Given the description of an element on the screen output the (x, y) to click on. 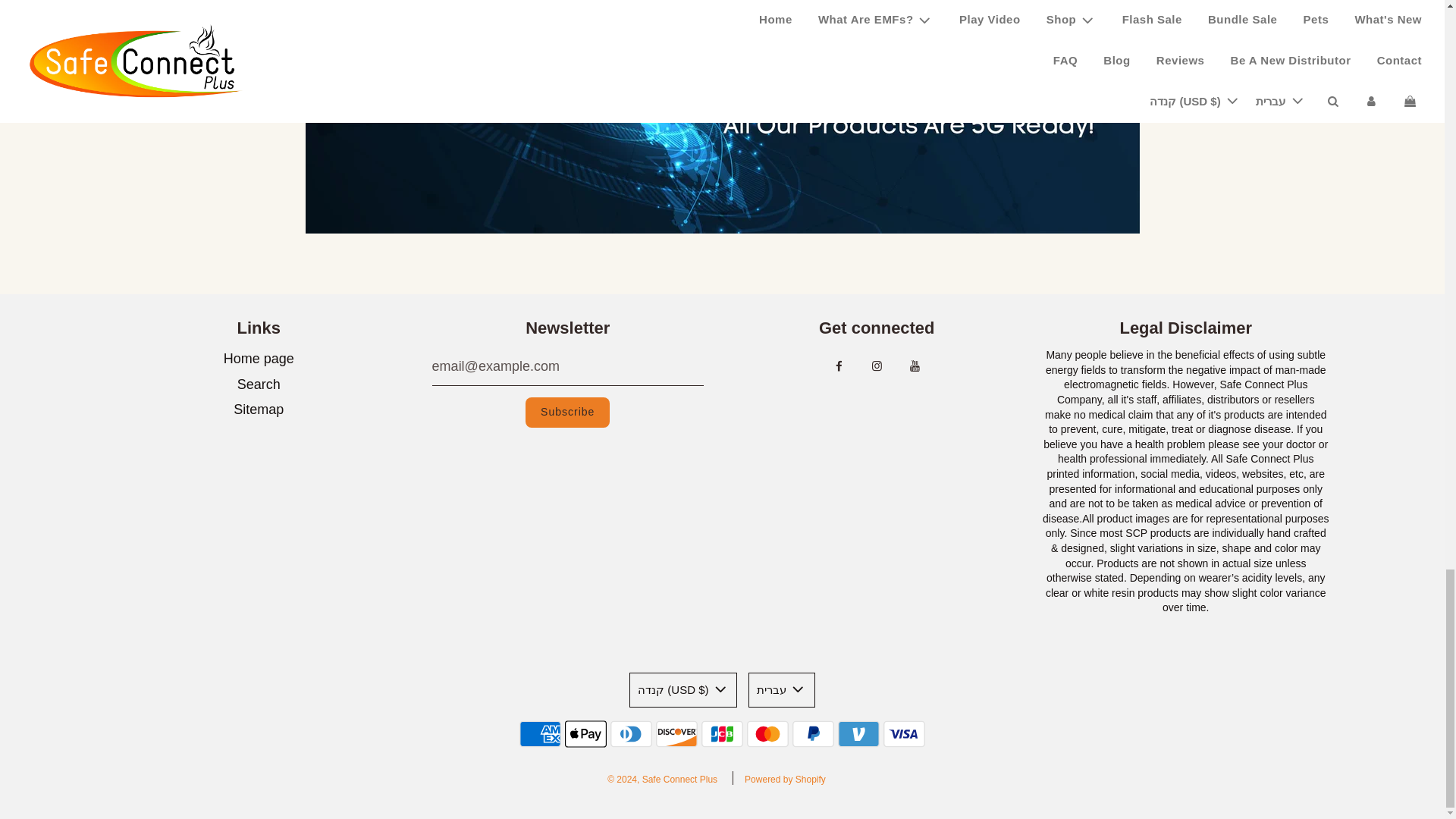
Mastercard (767, 734)
Venmo (858, 734)
Discover (676, 734)
JCB (721, 734)
American Express (539, 734)
PayPal (813, 734)
Apple Pay (585, 734)
Visa (903, 734)
Diners Club (631, 734)
Subscribe (567, 412)
